Given the description of an element on the screen output the (x, y) to click on. 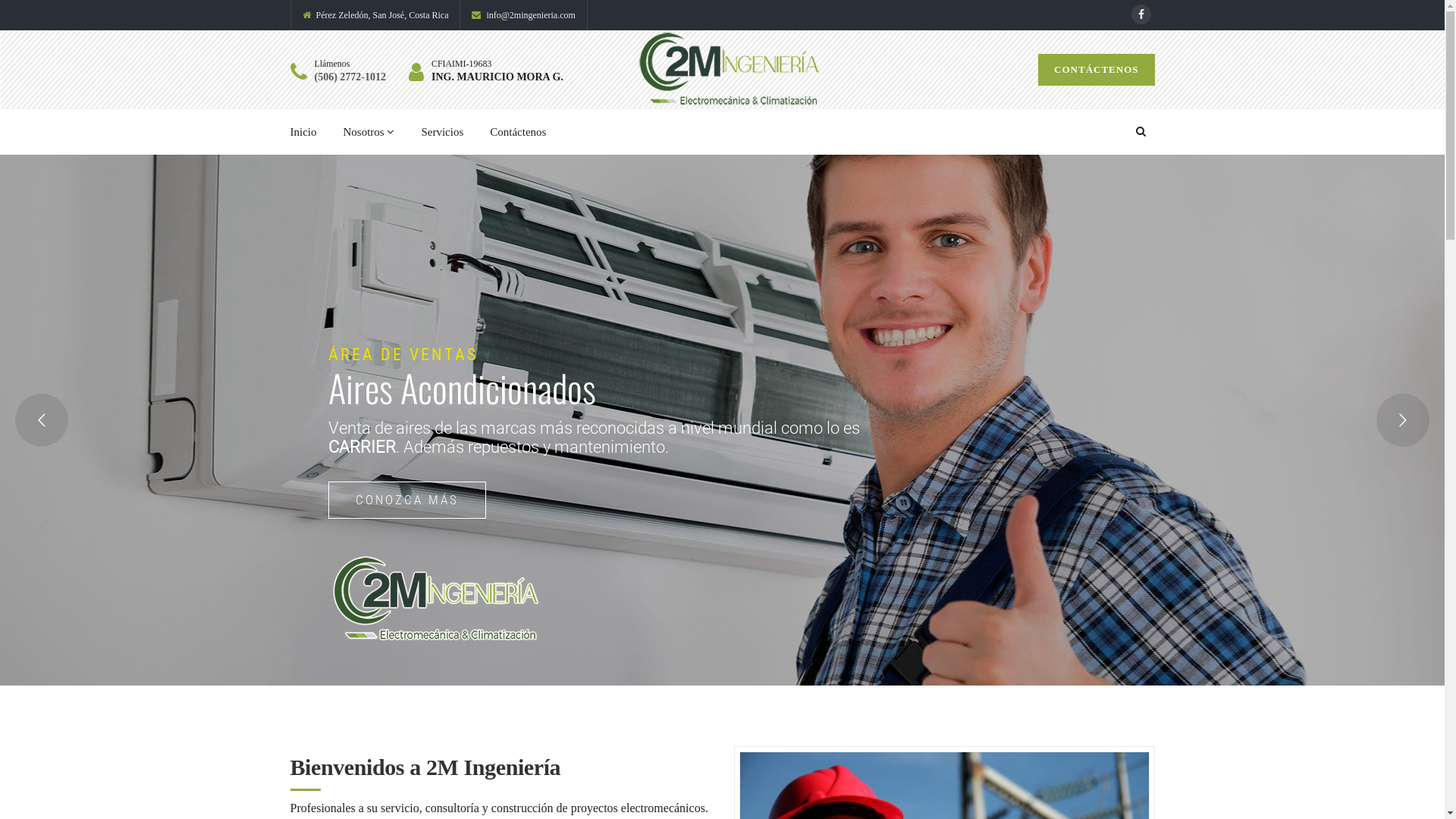
2 M Ingenieria Element type: hover (730, 69)
Servicios Element type: text (441, 131)
Nosotros Element type: text (368, 131)
(506) 2772-1012 Element type: text (349, 76)
Inicio Element type: text (302, 131)
Facebook Element type: hover (1141, 14)
